Given the description of an element on the screen output the (x, y) to click on. 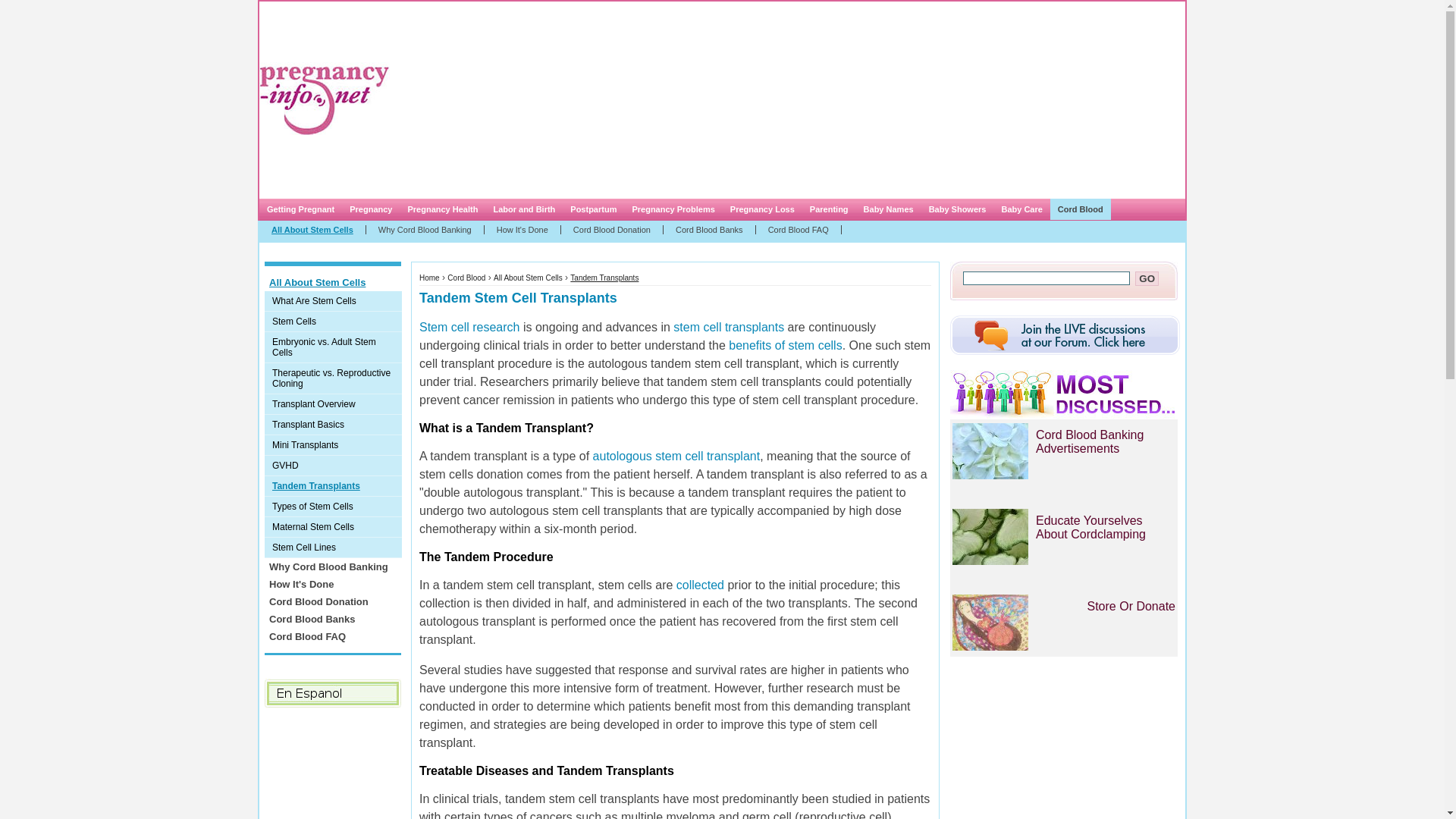
Cord Blood Donation (611, 229)
Cord Blood (1079, 209)
What Are Stem Cells (332, 301)
collected (700, 584)
All About Stem Cells (331, 282)
Pregnancy Problems (673, 209)
Pregnancy Health (441, 209)
Why Cord Blood Banking (425, 229)
benefits of stem cells (785, 345)
autologous stem cell transplant (676, 455)
Baby Showers (957, 209)
Advertisement (718, 99)
Stem cell research (469, 327)
3rd party ad content (324, 763)
Getting Pregnant (300, 209)
